Given the description of an element on the screen output the (x, y) to click on. 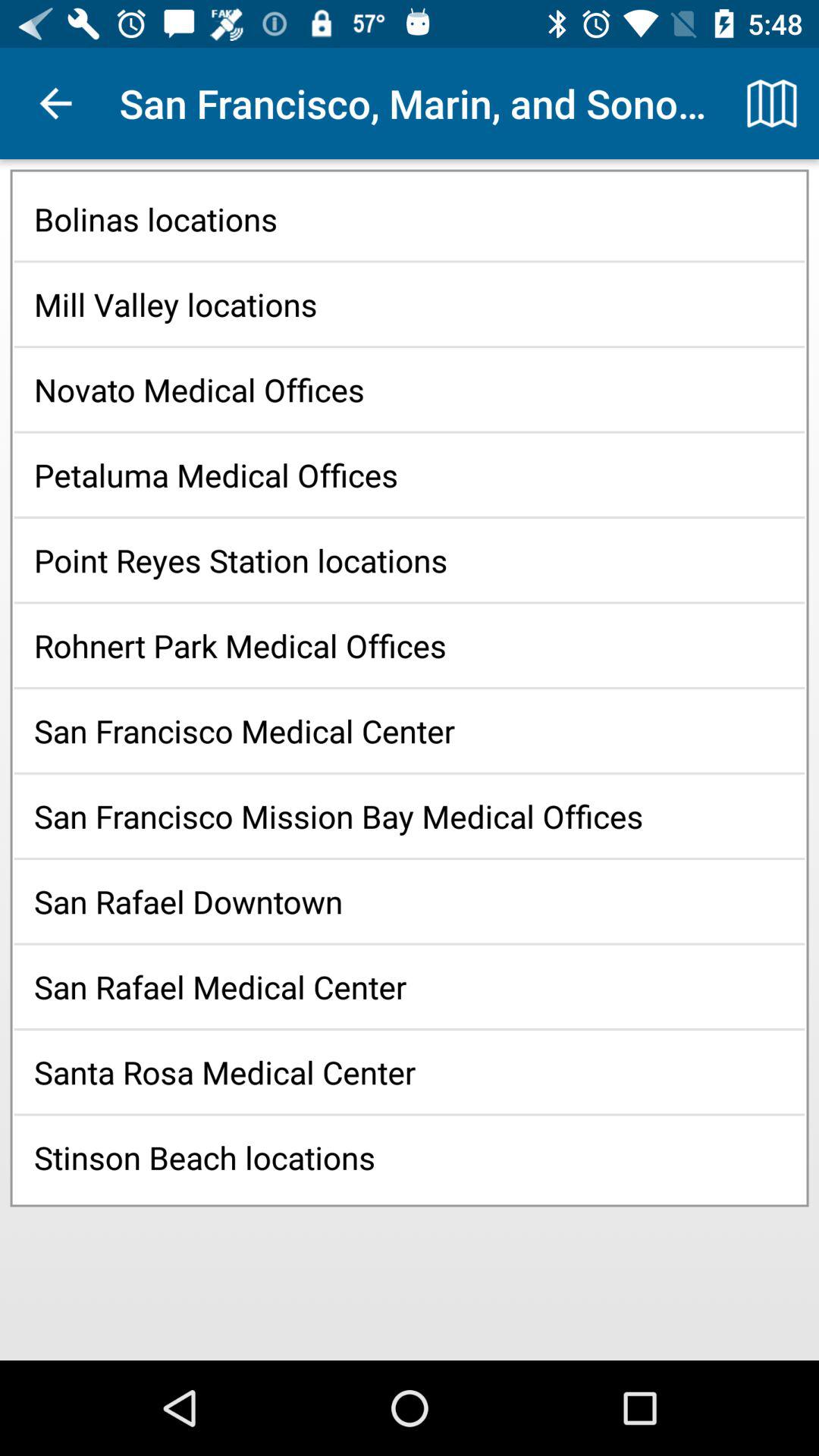
turn off app to the left of san francisco marin icon (55, 103)
